Given the description of an element on the screen output the (x, y) to click on. 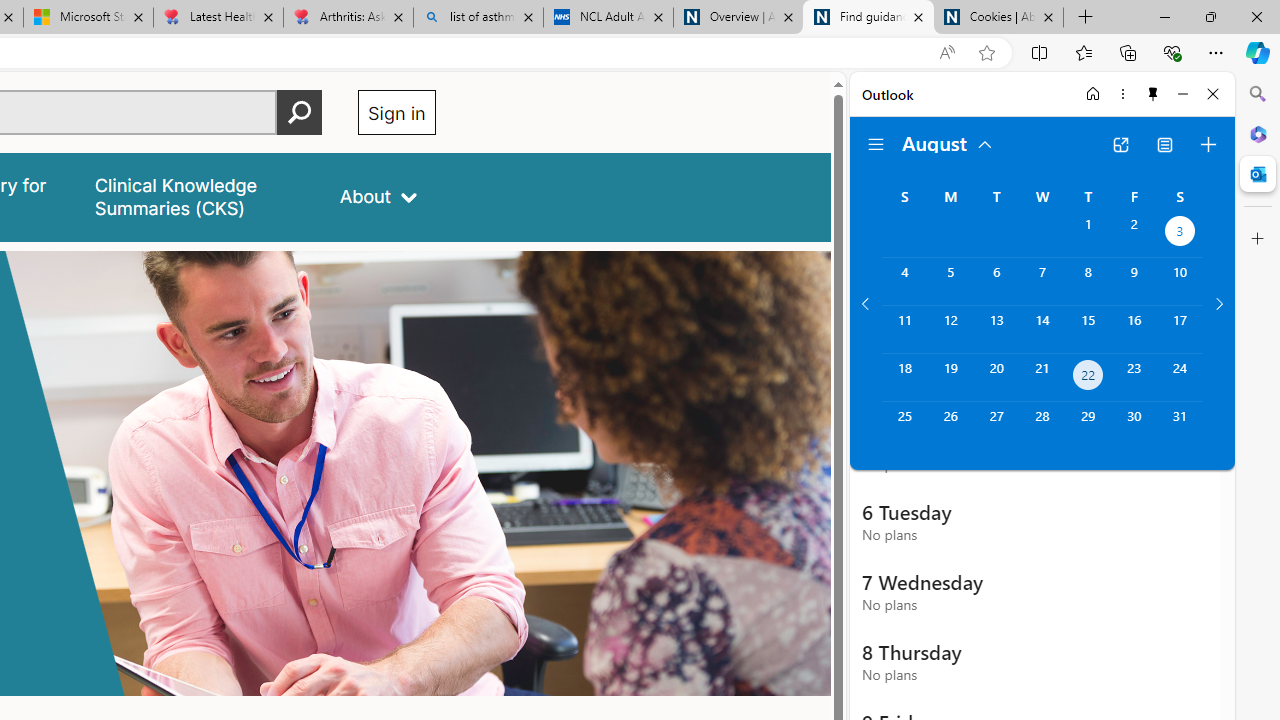
Thursday, August 29, 2024.  (1088, 425)
Create event (1208, 144)
Close Outlook pane (1258, 174)
Friday, August 23, 2024.  (1134, 377)
Tuesday, August 20, 2024.  (996, 377)
Friday, August 2, 2024.  (1134, 233)
false (198, 196)
Open in new tab (1120, 144)
Wednesday, August 14, 2024.  (1042, 329)
Monday, August 26, 2024.  (950, 425)
